Given the description of an element on the screen output the (x, y) to click on. 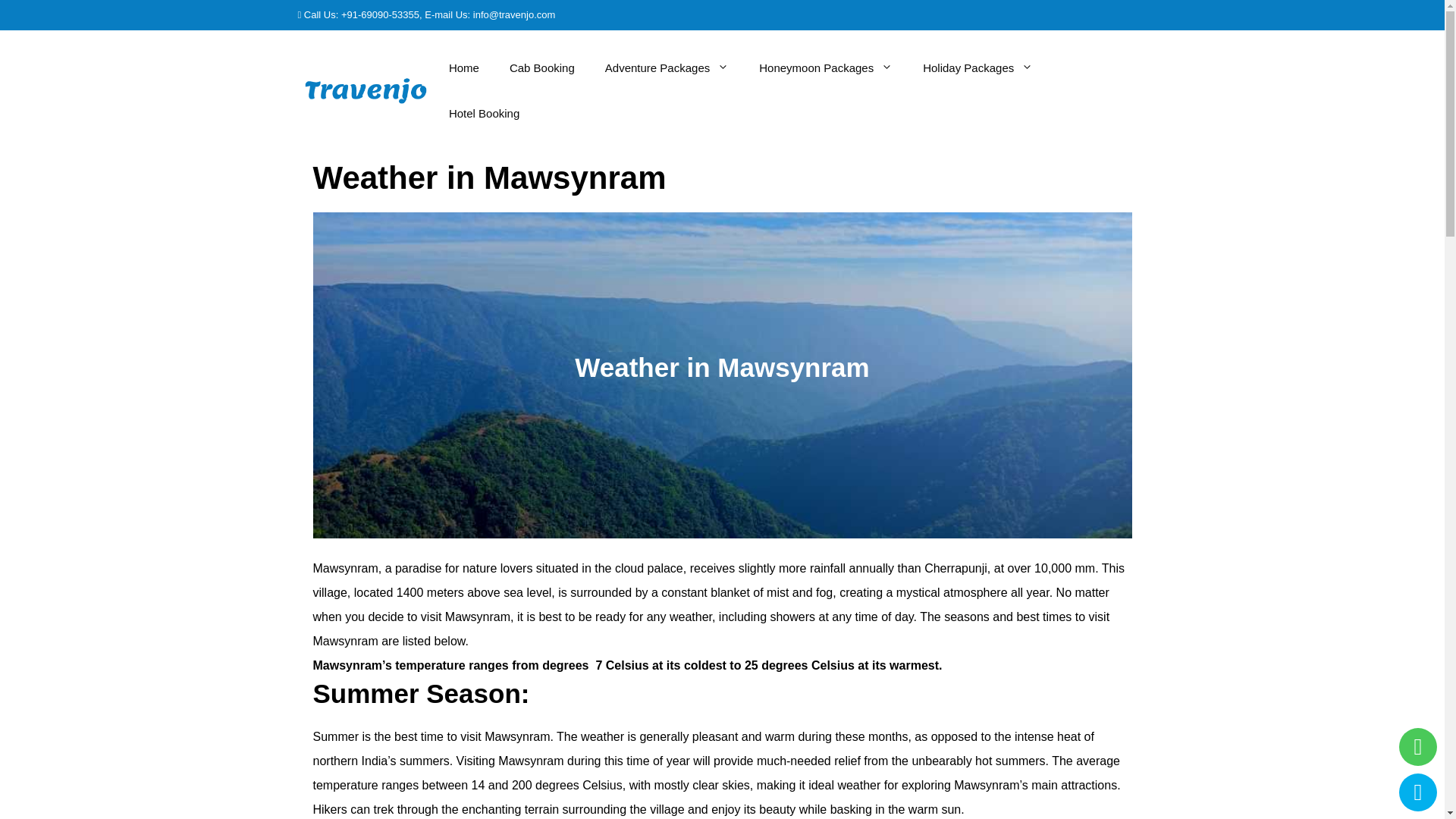
Cab Booking (542, 67)
Hotel Booking (483, 113)
Home (464, 67)
Adventure Packages (666, 67)
Holiday Packages (977, 67)
Honeymoon Packages (825, 67)
